Given the description of an element on the screen output the (x, y) to click on. 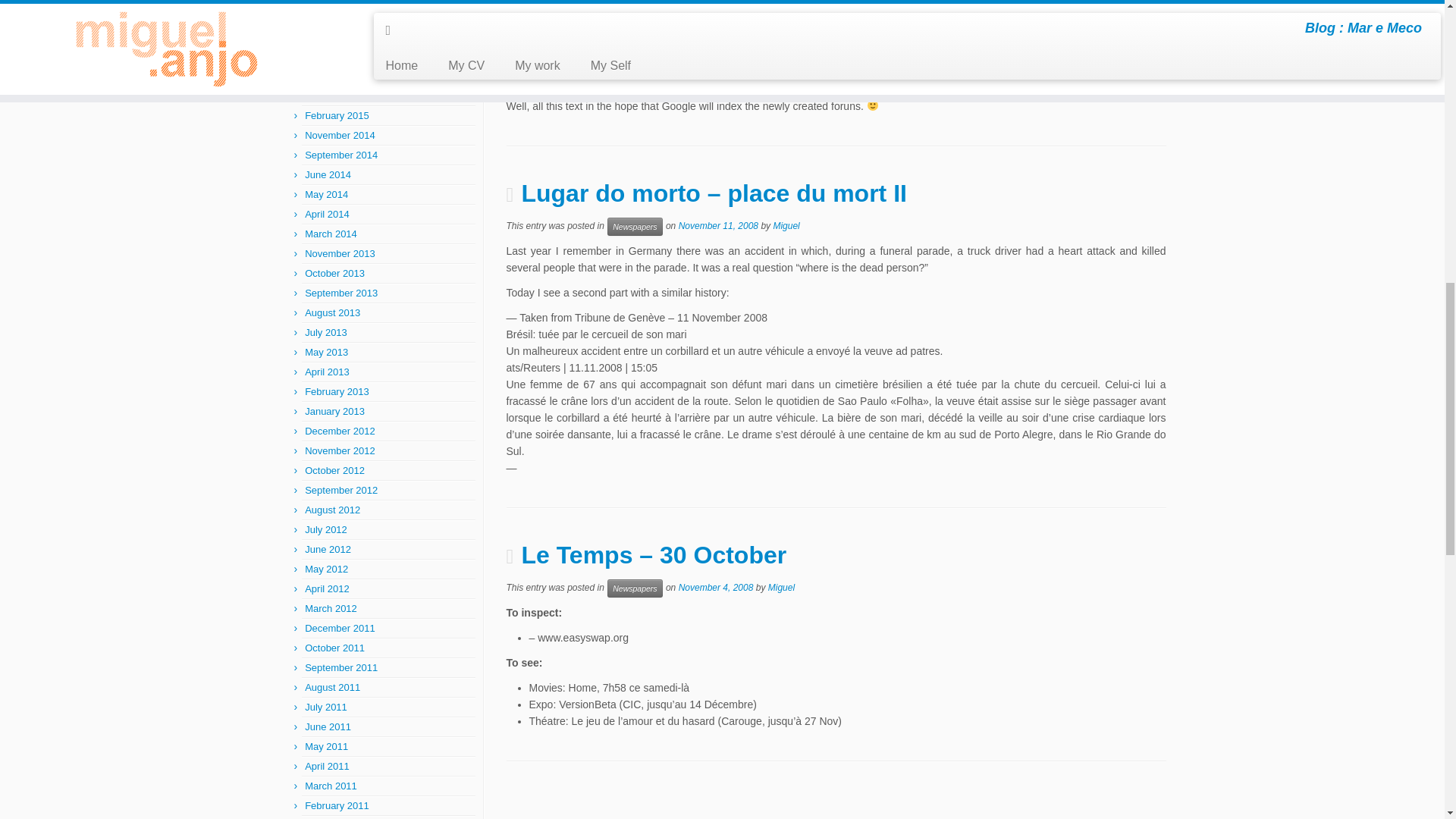
July 2015 (325, 16)
September 2015 (340, 1)
June 2015 (327, 36)
3:32 pm (718, 225)
View all posts by Miguel (786, 225)
View all posts in Newspapers (634, 226)
